Given the description of an element on the screen output the (x, y) to click on. 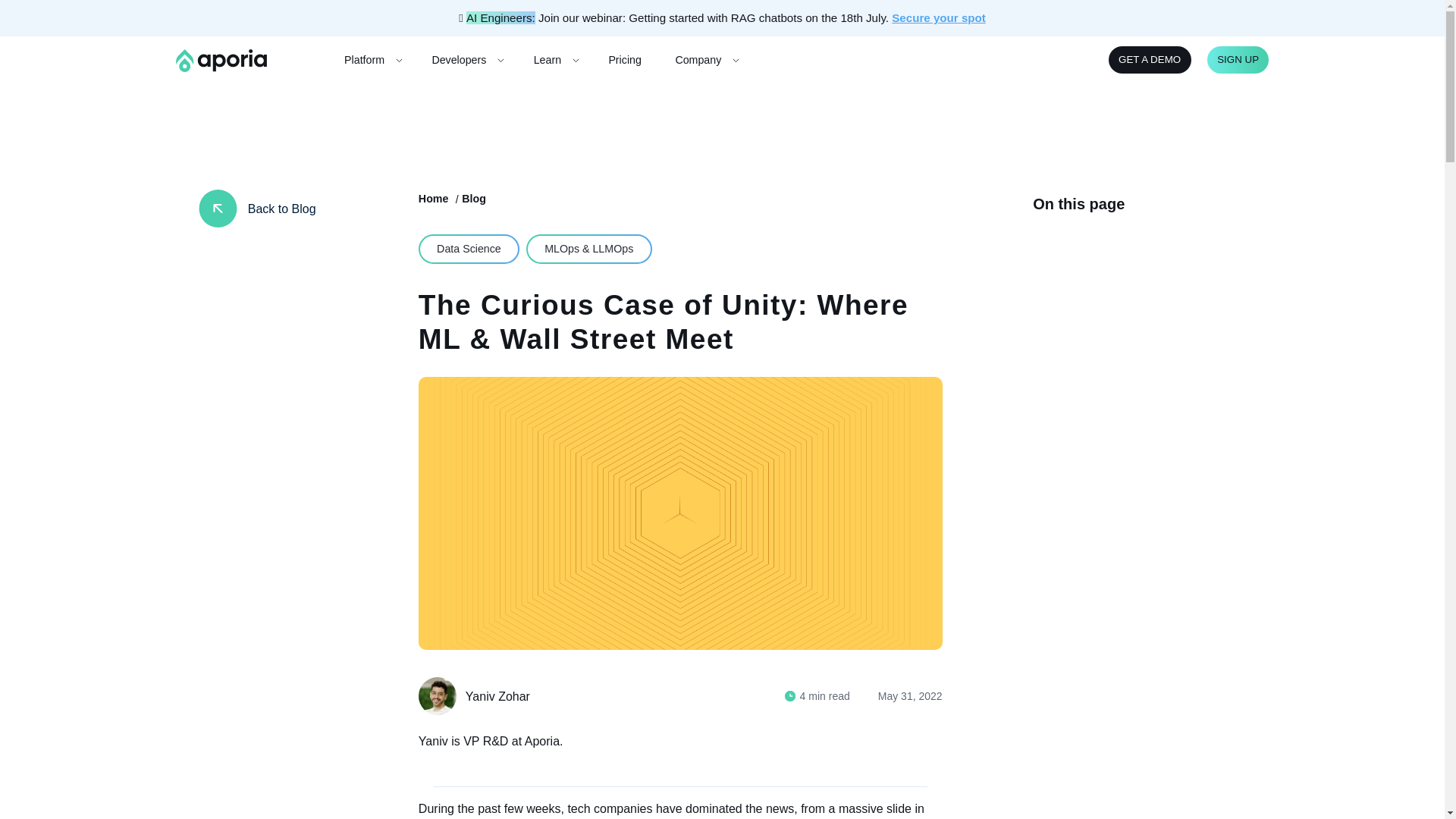
Aporia (221, 60)
